Given the description of an element on the screen output the (x, y) to click on. 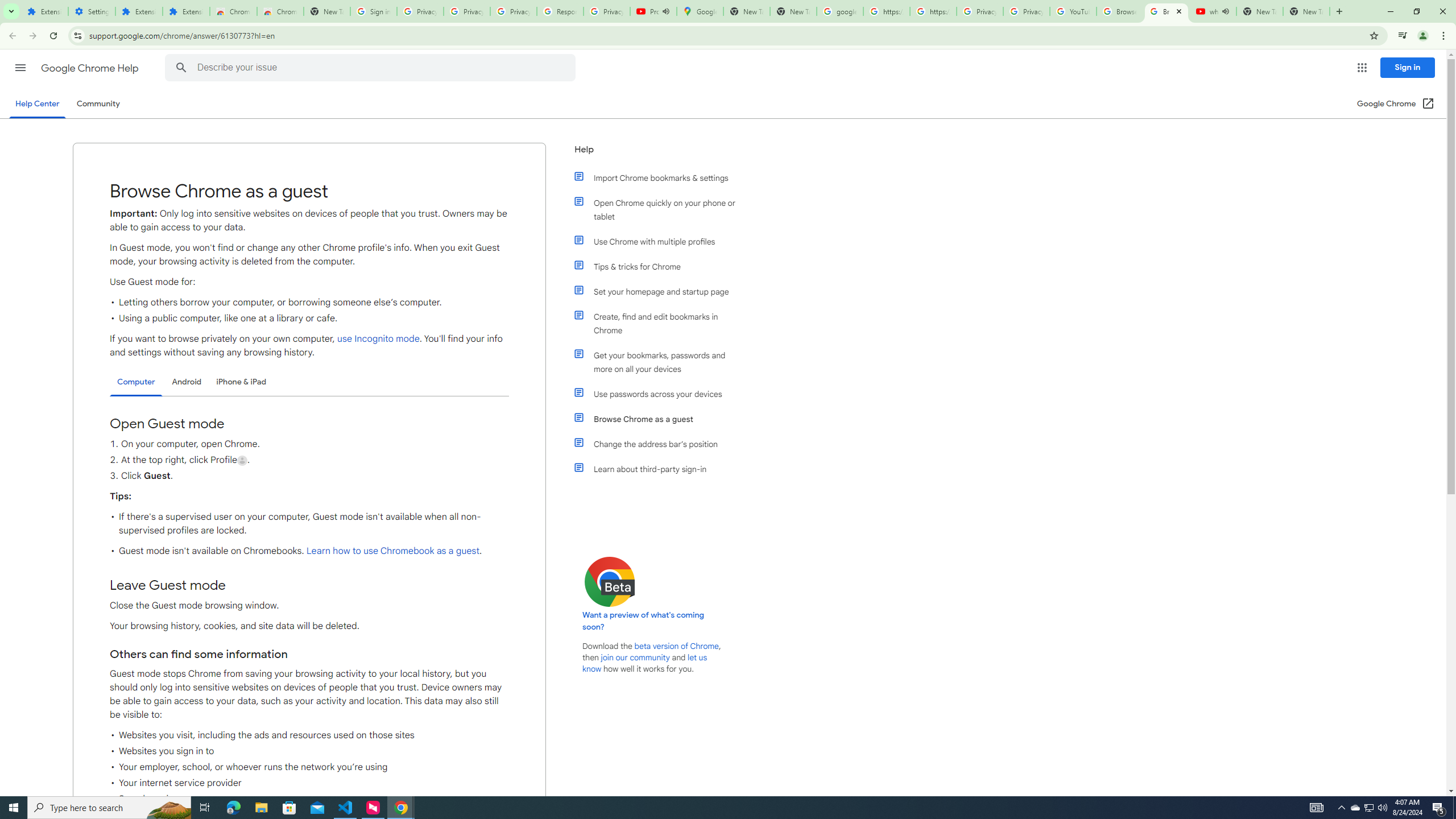
Search Help Center (181, 67)
Want a preview of what's coming soon? (643, 621)
New Tab (326, 11)
Open Chrome quickly on your phone or tablet (661, 209)
